Given the description of an element on the screen output the (x, y) to click on. 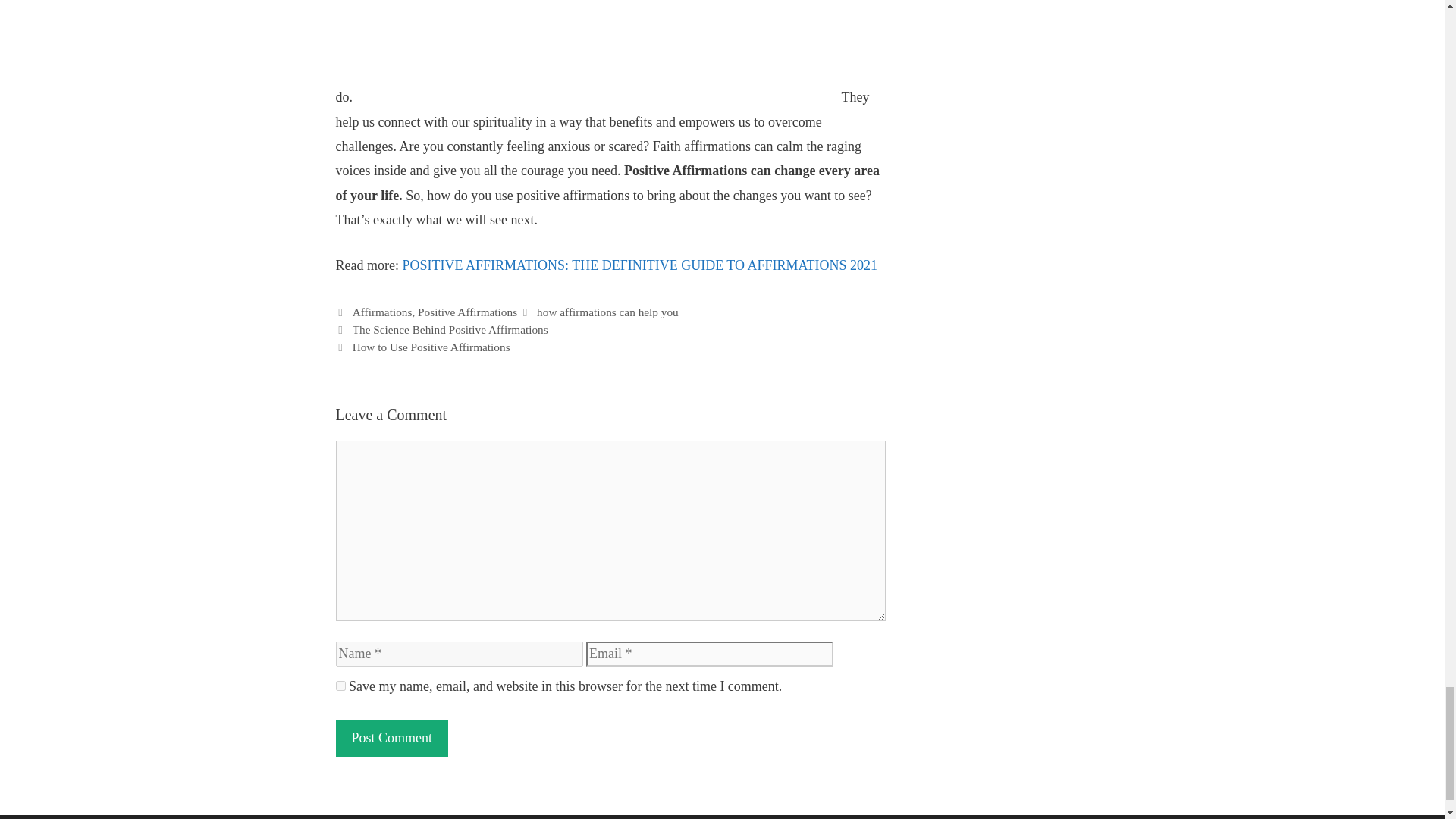
Post Comment (391, 737)
The Science Behind Positive Affirmations (450, 328)
How to Use Positive Affirmations (431, 346)
yes (339, 685)
Positive Affirmations (466, 311)
Post Comment (391, 737)
how affirmations can help you (607, 311)
Affirmations (382, 311)
